Given the description of an element on the screen output the (x, y) to click on. 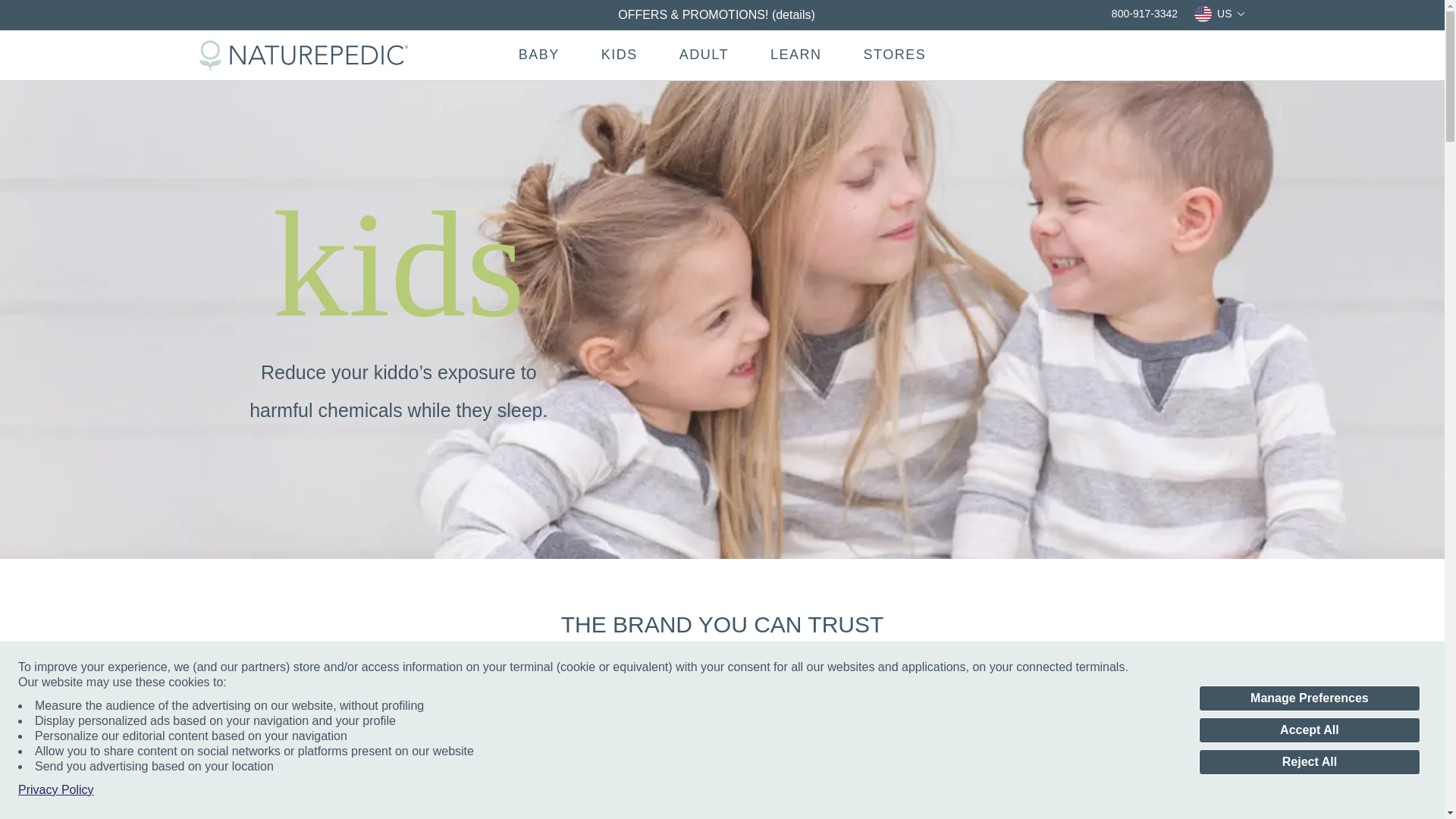
Reject All (1309, 761)
Accept All (1309, 729)
BABY (536, 55)
KIDS (624, 55)
Manage Preferences (1309, 698)
Privacy Policy (55, 789)
800-917-3342 (1133, 14)
